Given the description of an element on the screen output the (x, y) to click on. 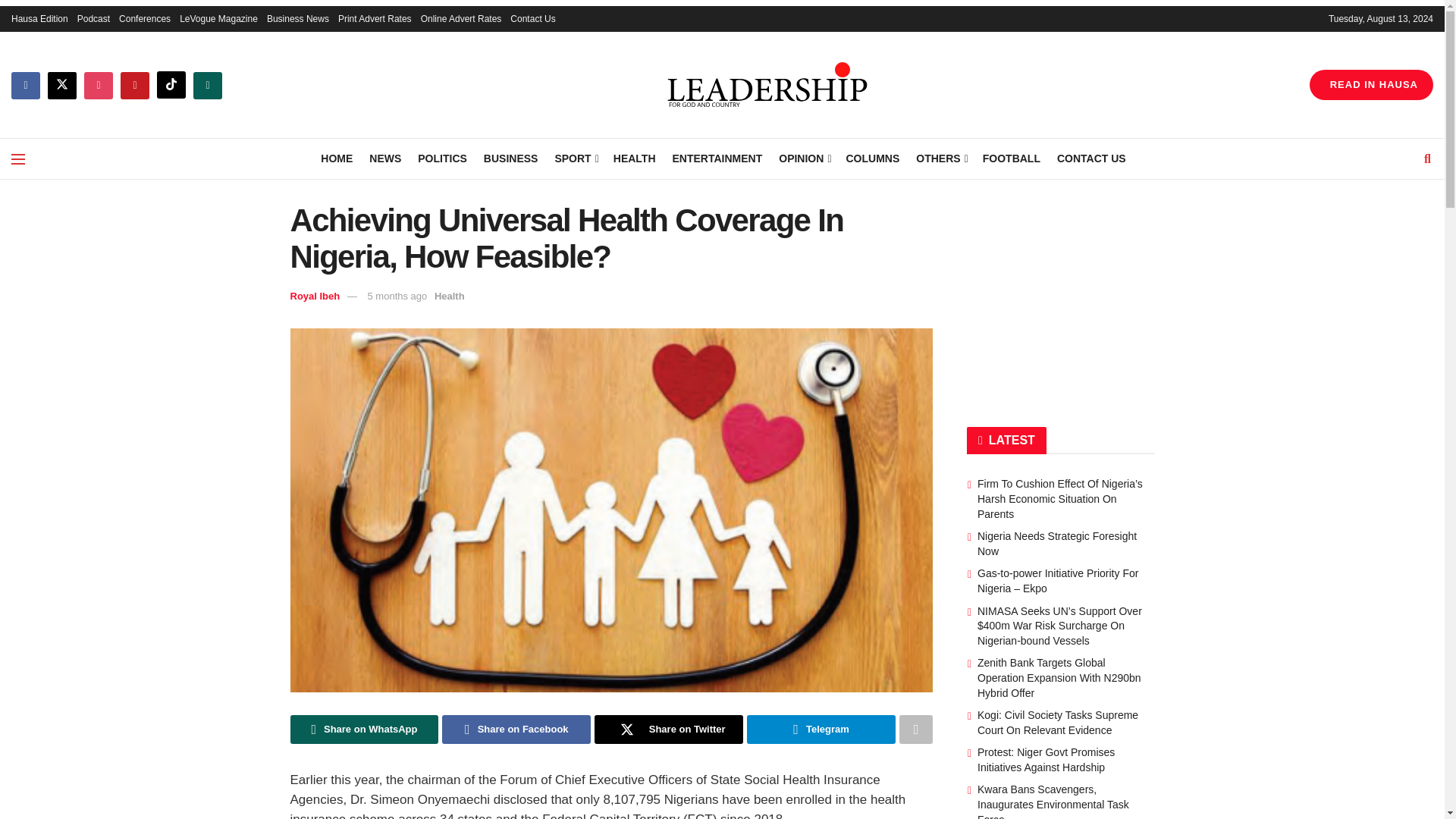
COLUMNS (872, 158)
LeVogue Magazine (218, 18)
ENTERTAINMENT (717, 158)
CONTACT US (1091, 158)
Online Advert Rates (461, 18)
Business News (297, 18)
Conferences (144, 18)
HEALTH (634, 158)
HOME (336, 158)
Contact Us (532, 18)
